Given the description of an element on the screen output the (x, y) to click on. 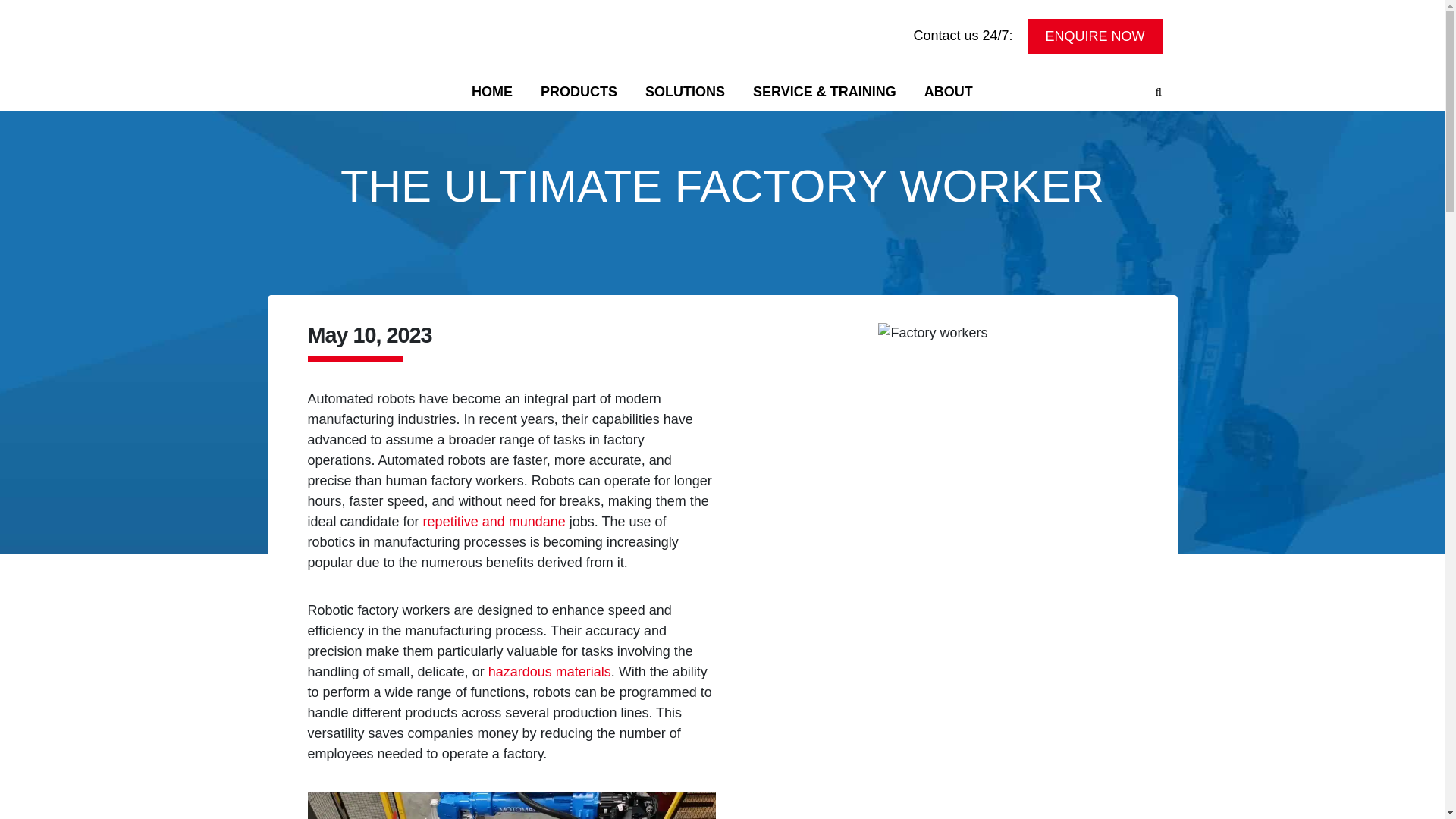
ABOUT (948, 90)
PRODUCTS (577, 90)
hazardous materials (549, 671)
SOLUTIONS (685, 90)
ENQUIRE NOW (1094, 35)
repetitive and mundane (494, 521)
HOME (492, 90)
